Given the description of an element on the screen output the (x, y) to click on. 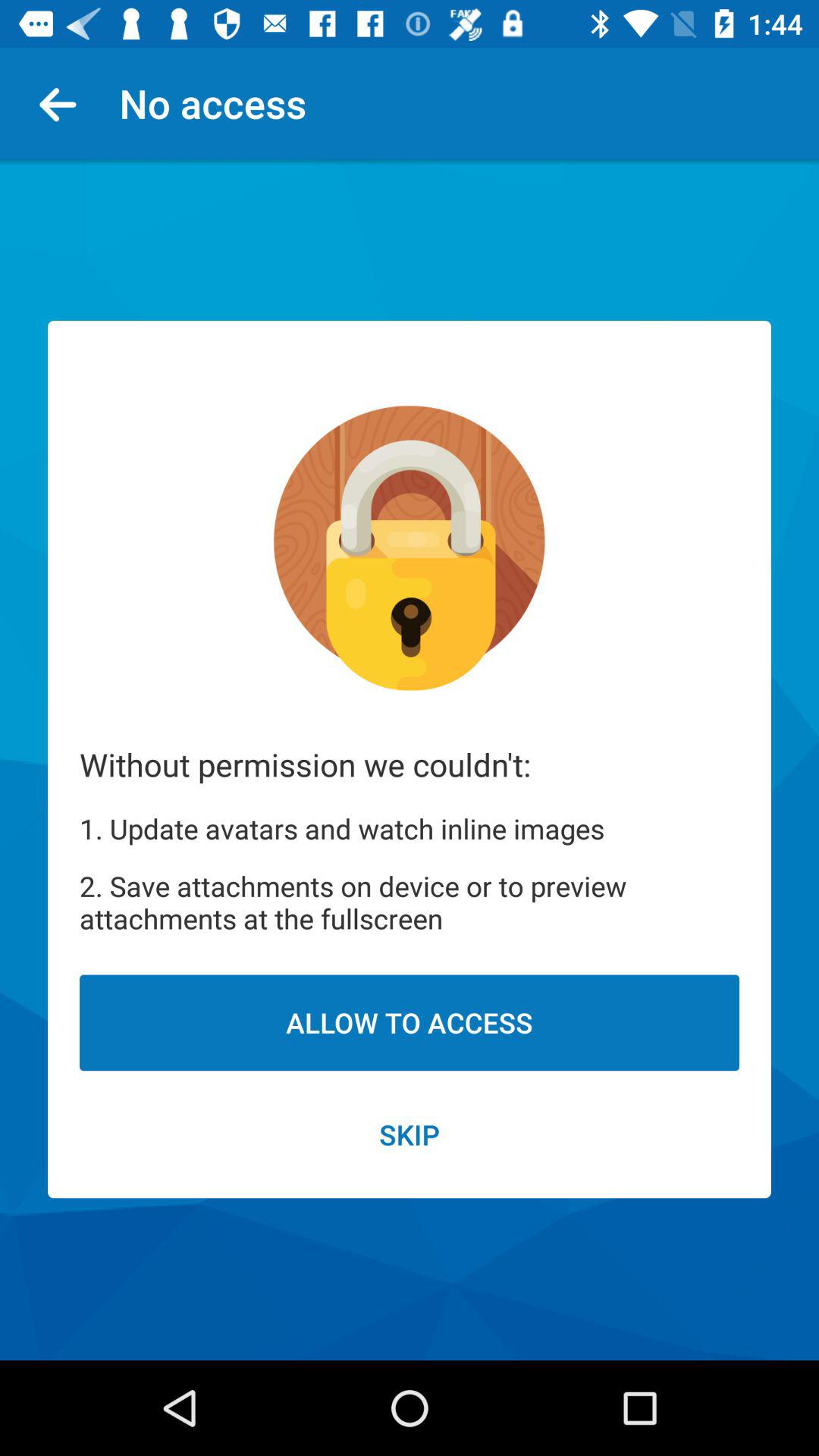
swipe to the skip (409, 1134)
